Given the description of an element on the screen output the (x, y) to click on. 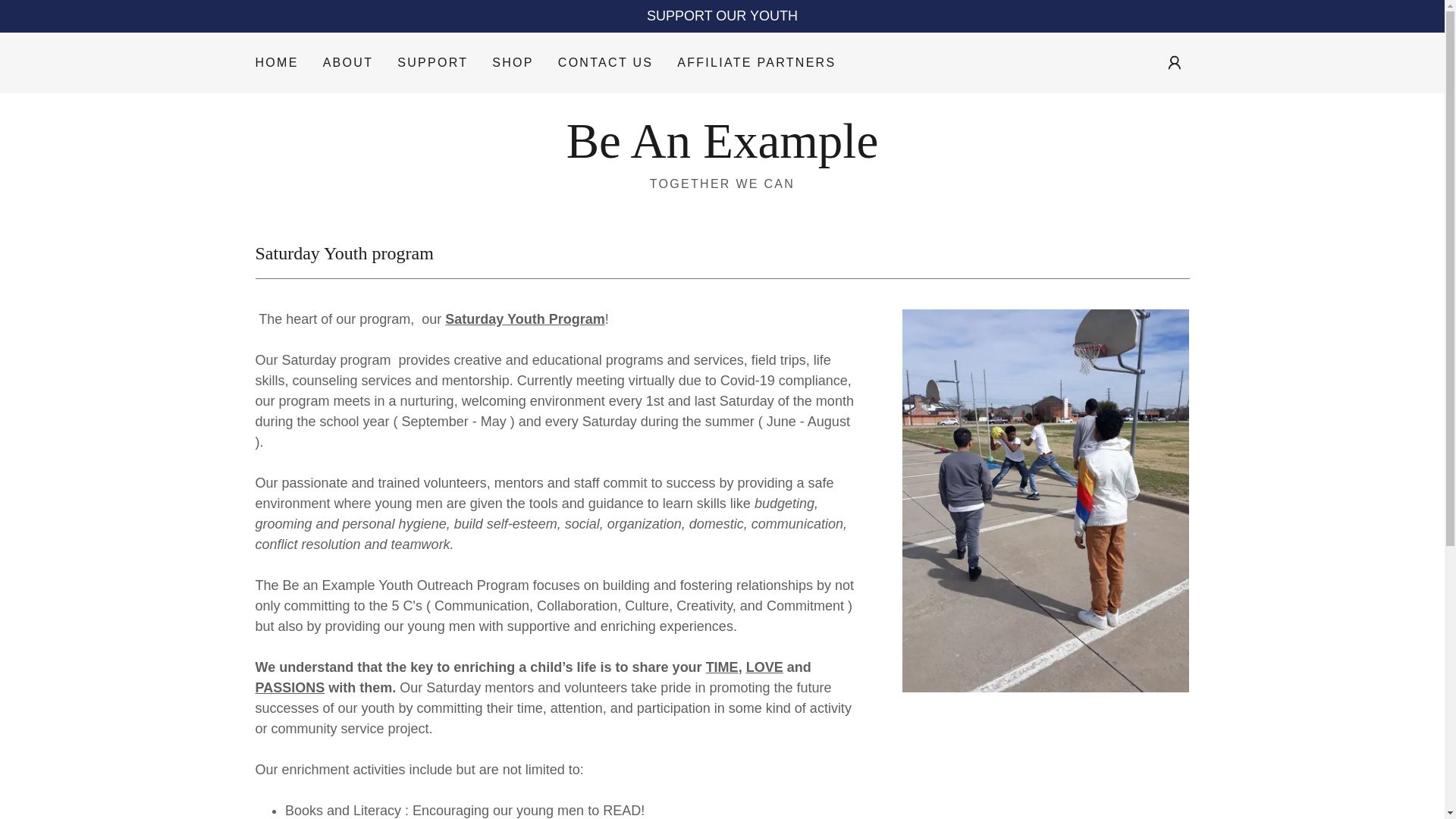
SHOP (512, 62)
SUPPORT (432, 62)
ABOUT (348, 62)
CONTACT US (722, 152)
AFFILIATE PARTNERS (605, 62)
Be An Example (756, 62)
HOME (722, 152)
